Given the description of an element on the screen output the (x, y) to click on. 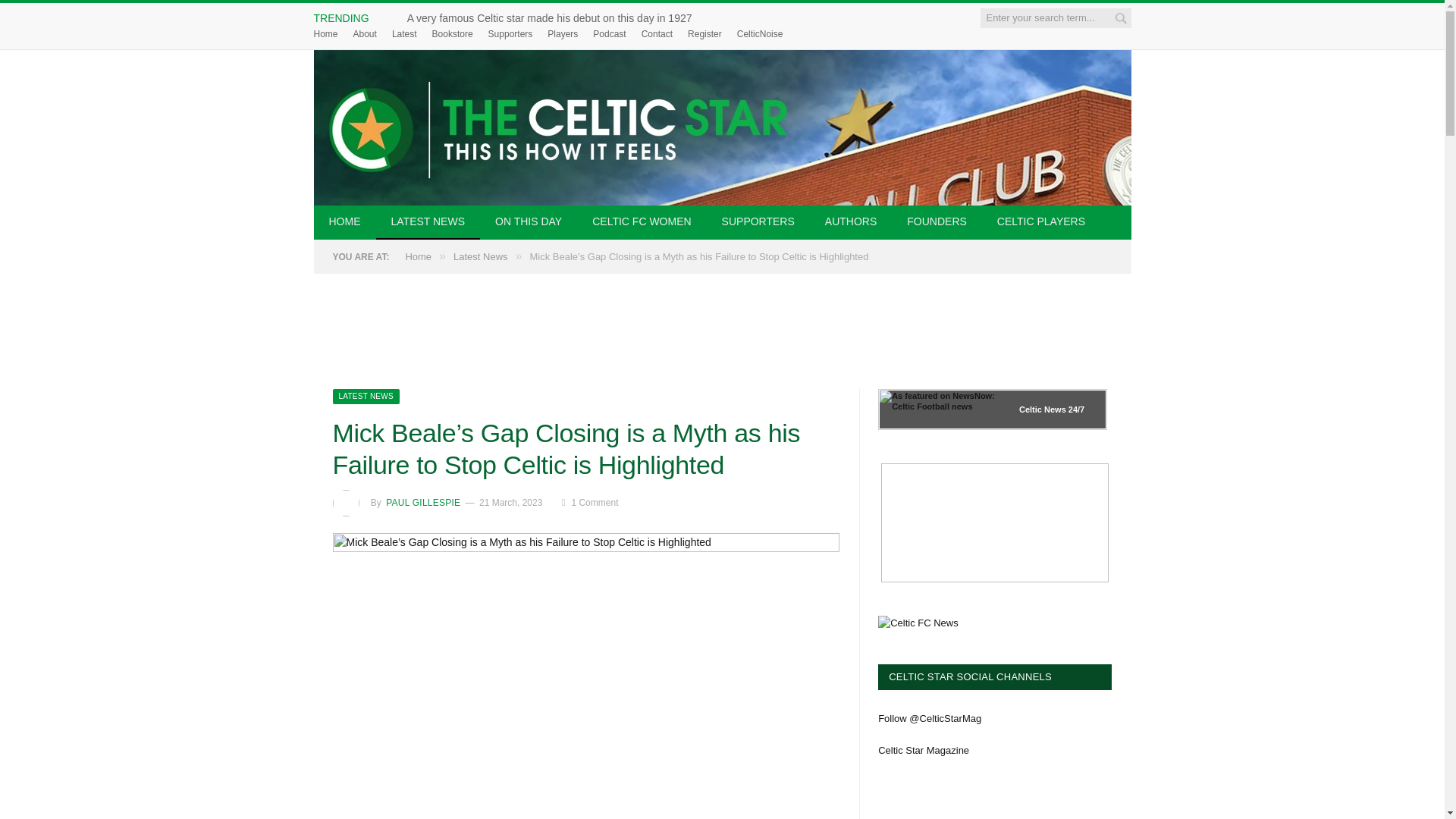
LATEST NEWS (427, 222)
A very famous Celtic star made his debut on this day in 1927 (553, 18)
Supporters (509, 33)
Register (704, 33)
FOUNDERS (936, 222)
CELTIC PLAYERS (1040, 222)
A very famous Celtic star made his debut on this day in 1927 (553, 18)
HOME (344, 222)
Latest (403, 33)
CelticNoise (759, 33)
